Given the description of an element on the screen output the (x, y) to click on. 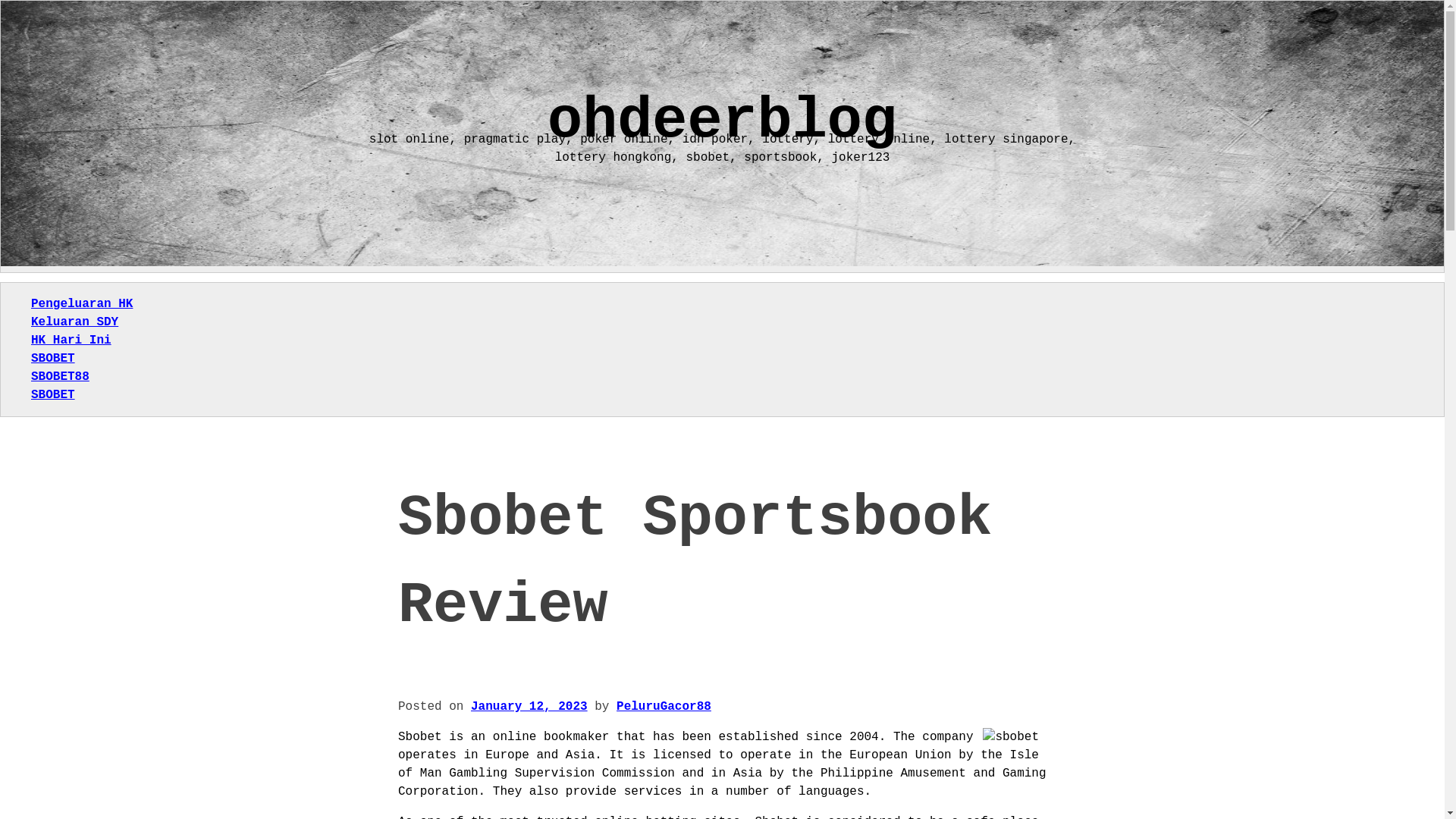
ohdeerblog (721, 120)
Keluaran SDY (73, 322)
HK Hari Ini (71, 340)
SBOBET88 (59, 377)
Pengeluaran HK (81, 304)
January 12, 2023 (529, 706)
SBOBET (52, 395)
PeluruGacor88 (663, 706)
SBOBET (52, 358)
